Given the description of an element on the screen output the (x, y) to click on. 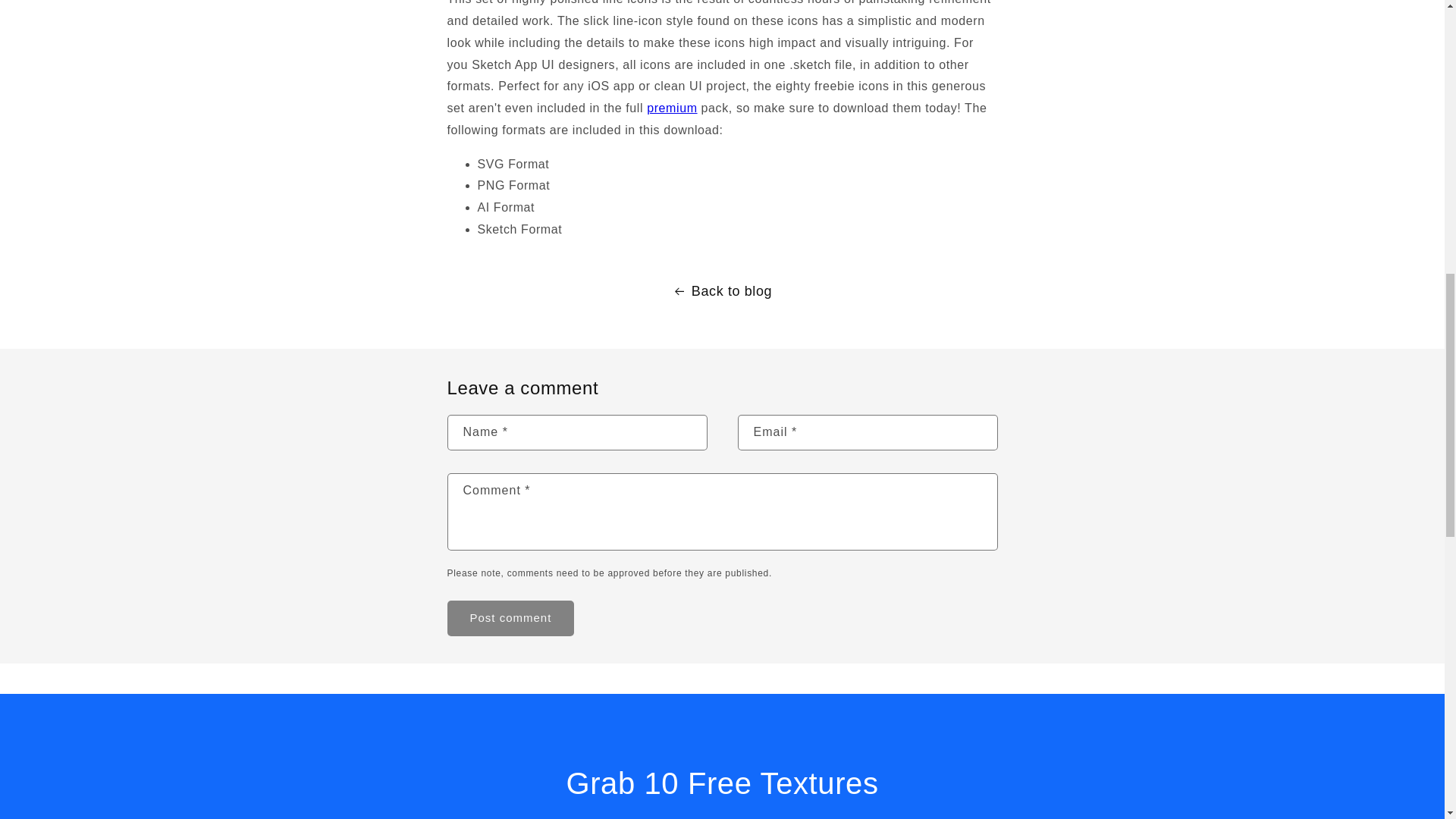
premium (671, 107)
Post comment (510, 618)
Post comment (510, 618)
